Given the description of an element on the screen output the (x, y) to click on. 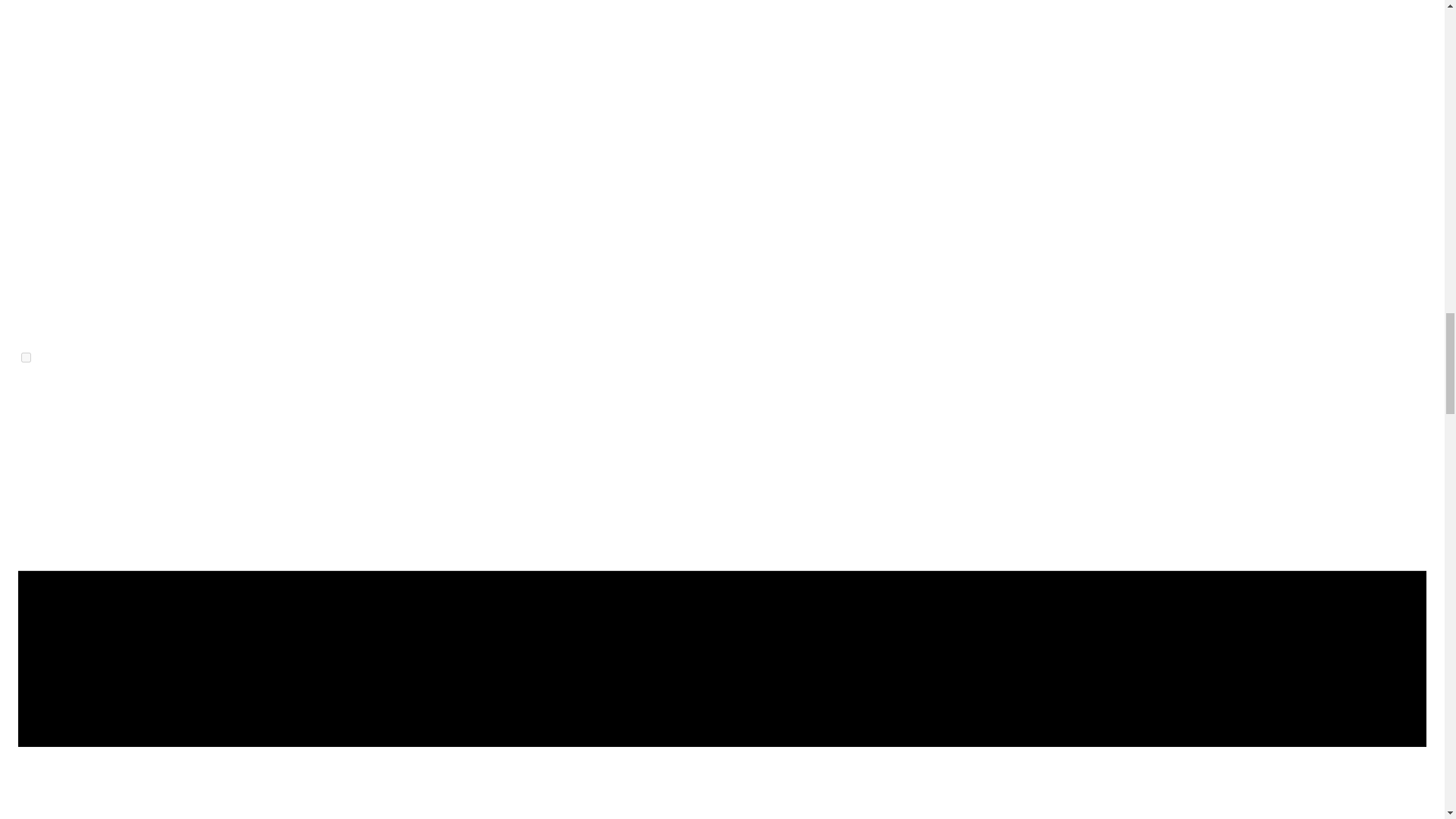
on (25, 357)
